Given the description of an element on the screen output the (x, y) to click on. 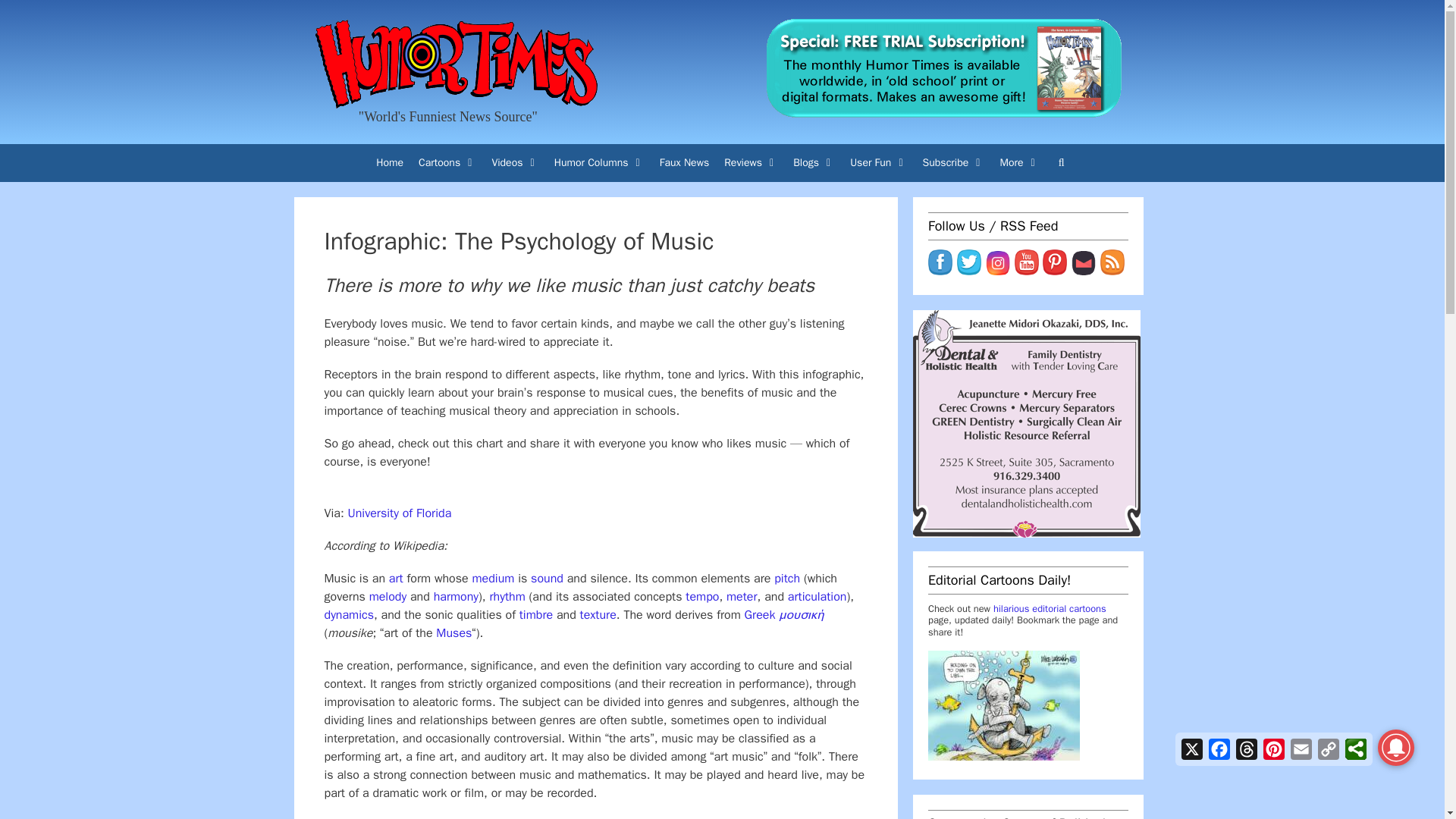
Melody (388, 596)
Rhythm (506, 596)
Sound (547, 578)
Home (389, 163)
Tempo (702, 596)
Cartoons (446, 163)
Timbre (536, 614)
Harmony (456, 596)
Art (395, 578)
Humor Times Free Trial (944, 67)
